Given the description of an element on the screen output the (x, y) to click on. 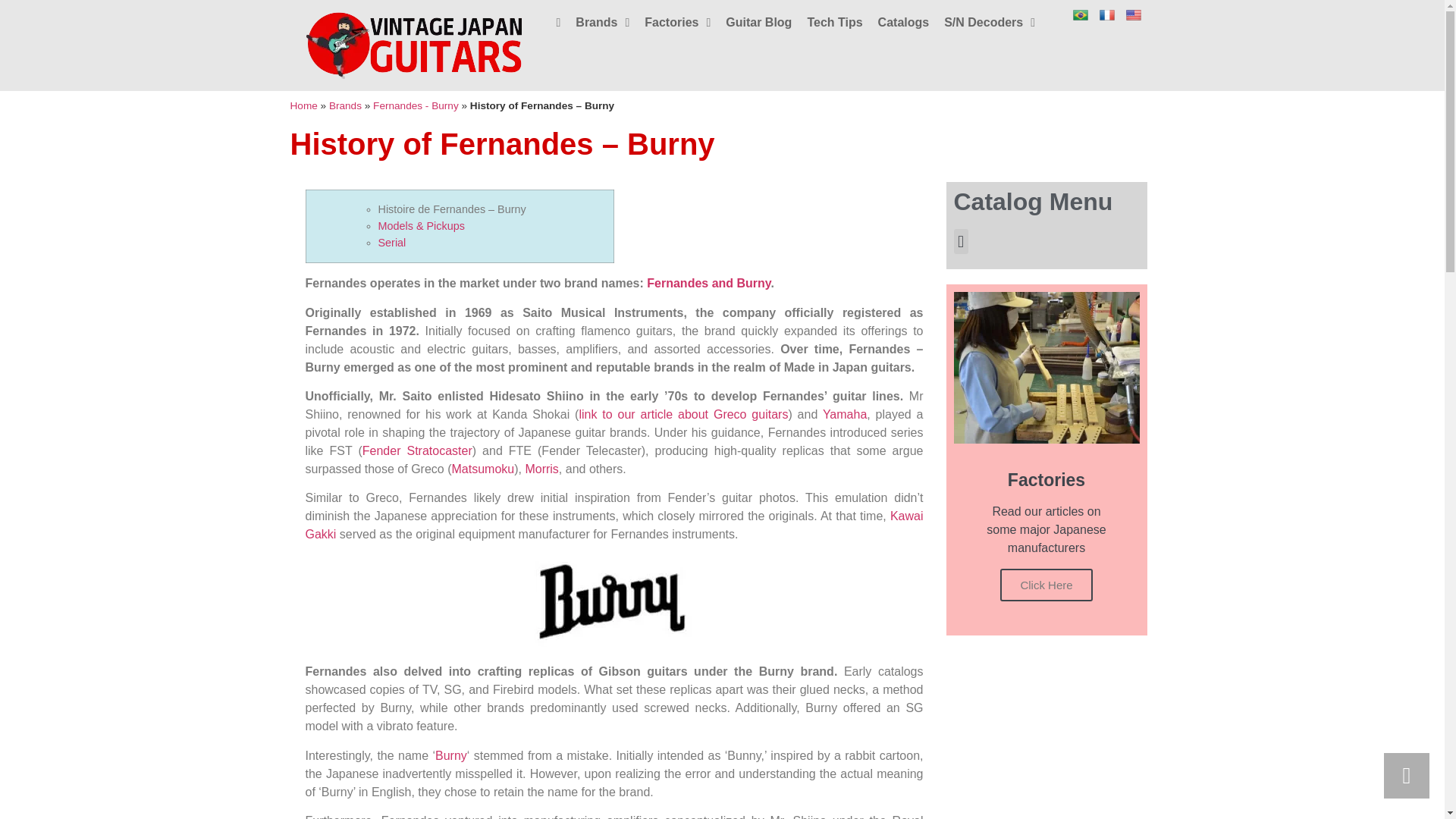
Tech Tips (834, 22)
Brands (602, 22)
Catalogs (903, 22)
Guitar Blog (758, 22)
Factories (677, 22)
